Given the description of an element on the screen output the (x, y) to click on. 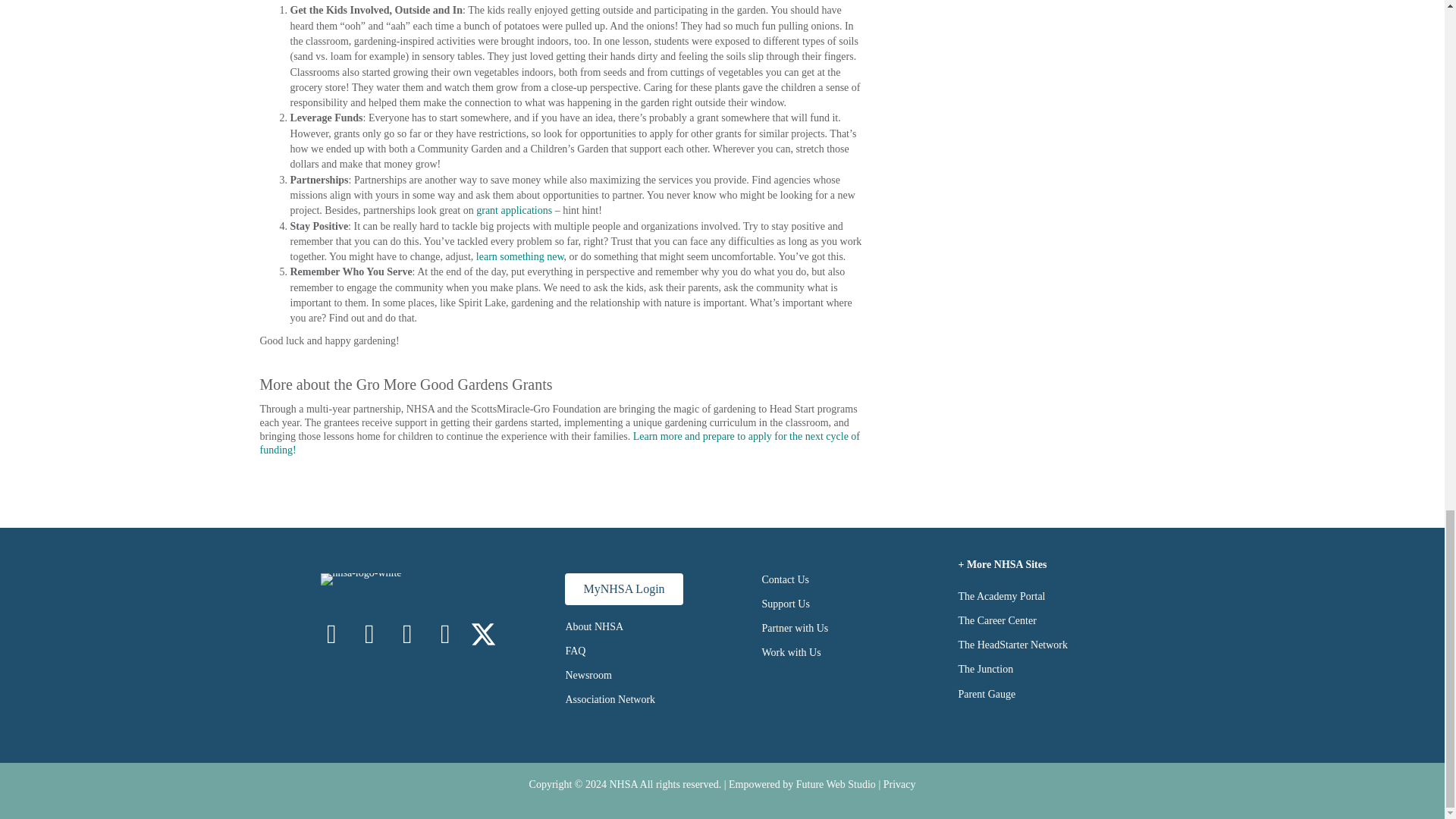
About NHSA (593, 626)
nhsa-logo-white (360, 579)
MyNHSA Login (623, 589)
YouTube (445, 634)
Facebook (331, 634)
Newsroom (587, 674)
NHSA (622, 784)
LinkedIn (407, 634)
Instagram (369, 634)
